Given the description of an element on the screen output the (x, y) to click on. 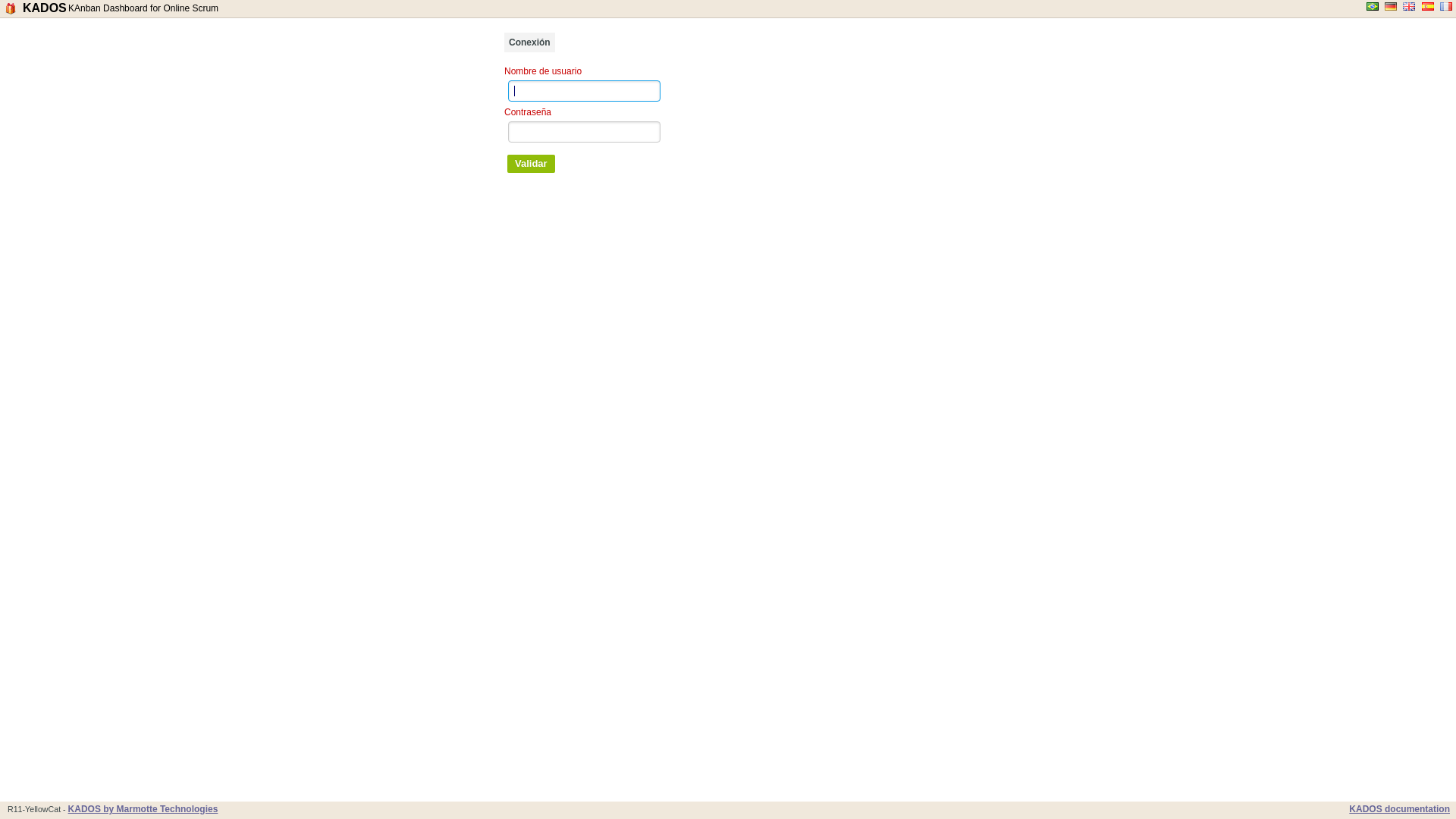
KADOS by Marmotte Technologies Element type: text (143, 808)
KADOS documentation Element type: text (1399, 808)
Validar Element type: text (531, 163)
